Given the description of an element on the screen output the (x, y) to click on. 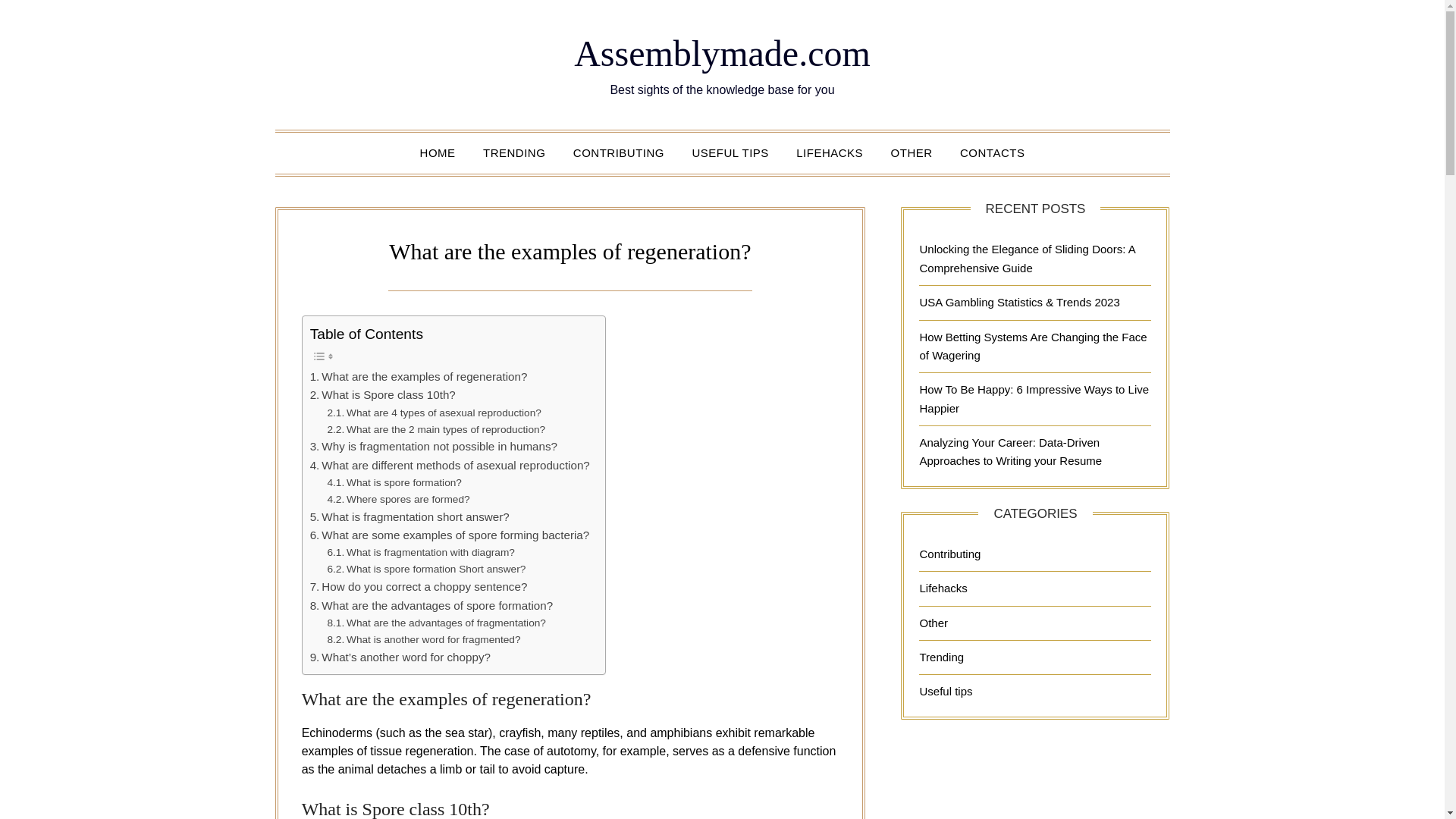
What are the 2 main types of reproduction? (435, 429)
What is spore formation? (393, 483)
What is Spore class 10th? (382, 394)
What is another word for fragmented? (422, 639)
What are some examples of spore forming bacteria? (449, 535)
HOME (437, 152)
What are different methods of asexual reproduction? (449, 465)
USEFUL TIPS (729, 152)
Assemblymade.com (721, 53)
What is spore formation Short answer? (425, 569)
